Given the description of an element on the screen output the (x, y) to click on. 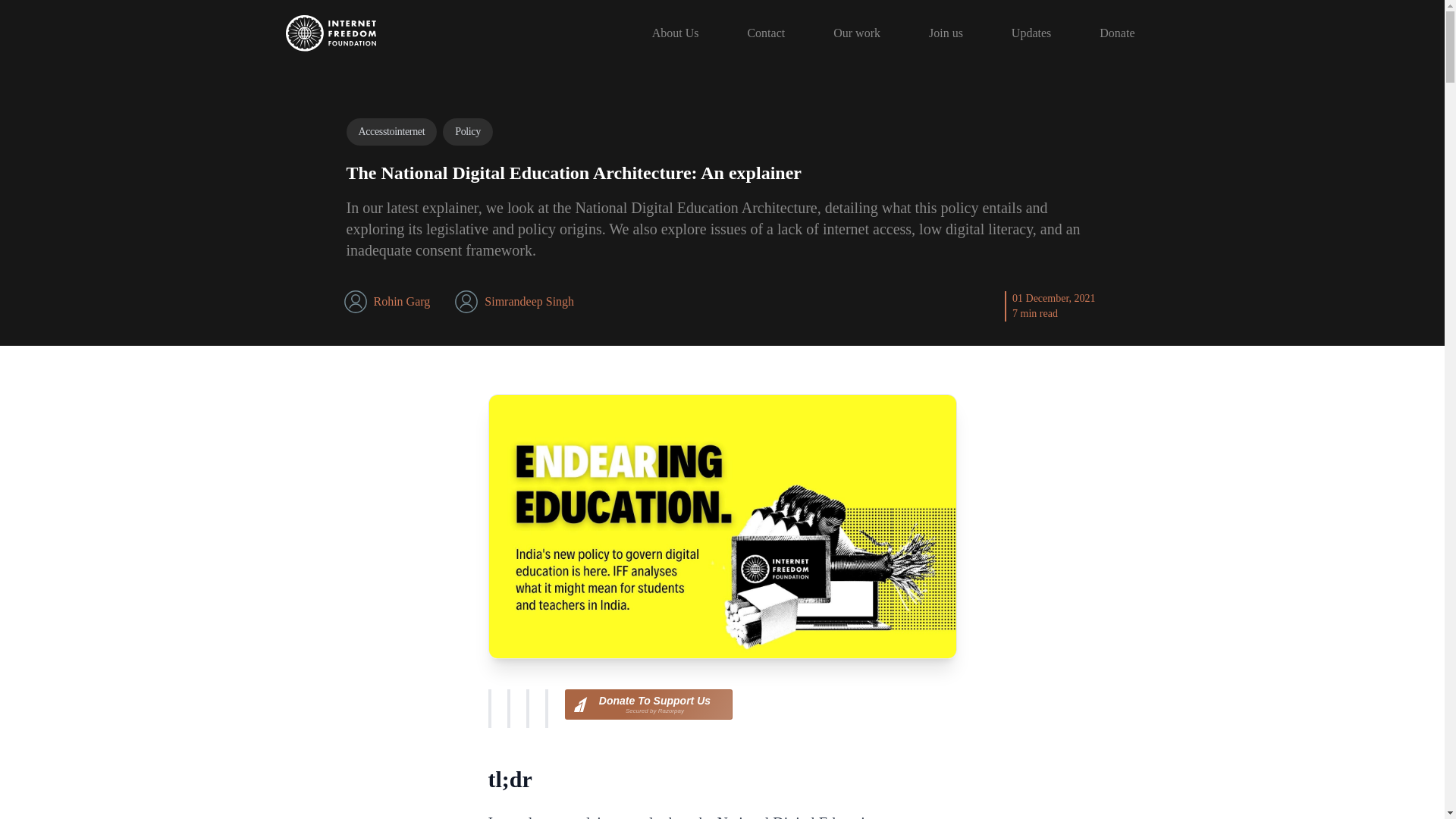
Rohin Garg (400, 300)
Accesstointernet (648, 703)
Policy (391, 131)
Join us (467, 131)
Simrandeep Singh (945, 33)
About Us (528, 300)
Contact (675, 33)
Updates (765, 33)
Donate (1031, 33)
Our work (1116, 33)
